Given the description of an element on the screen output the (x, y) to click on. 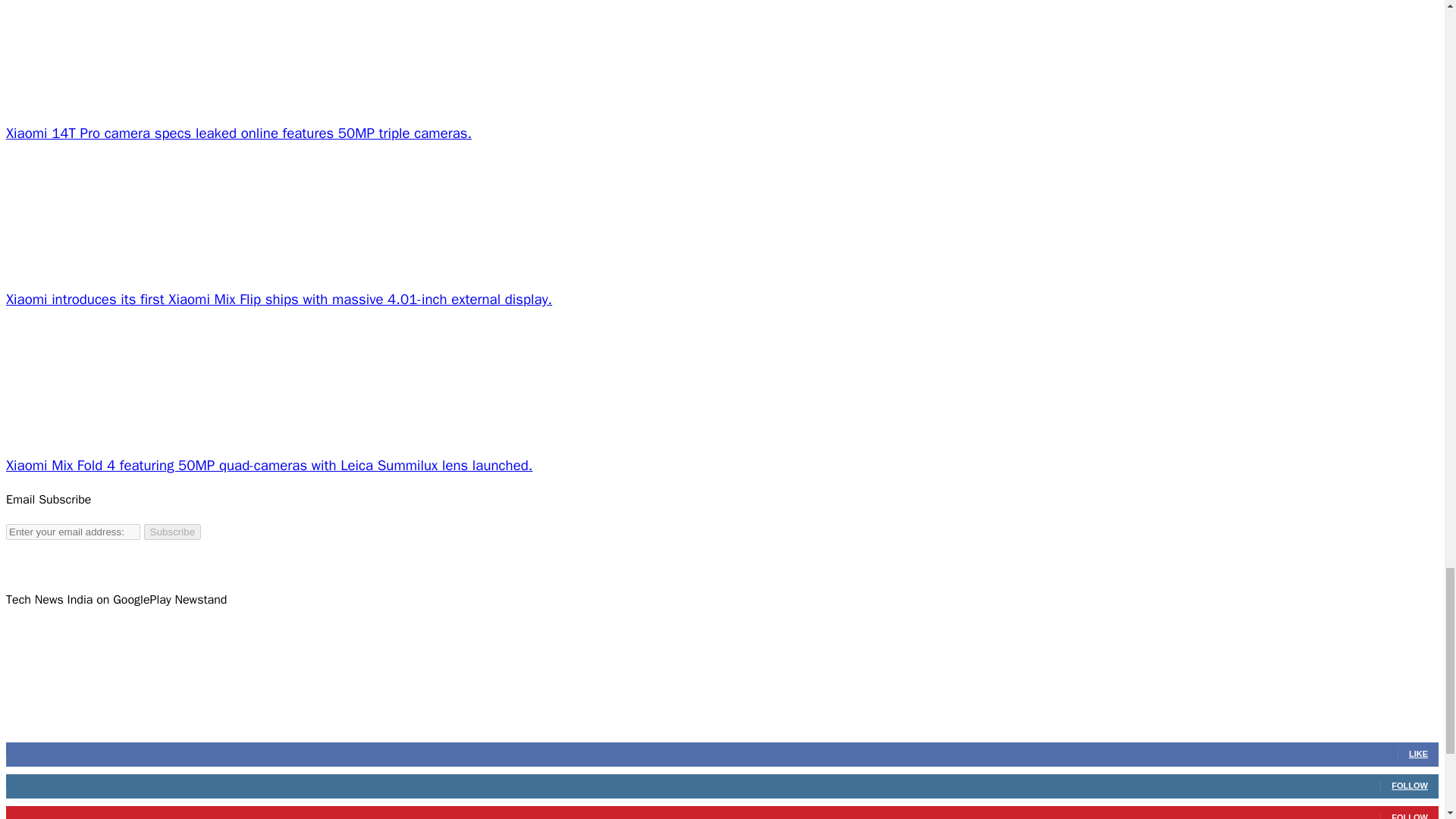
Subscribe (172, 531)
